Given the description of an element on the screen output the (x, y) to click on. 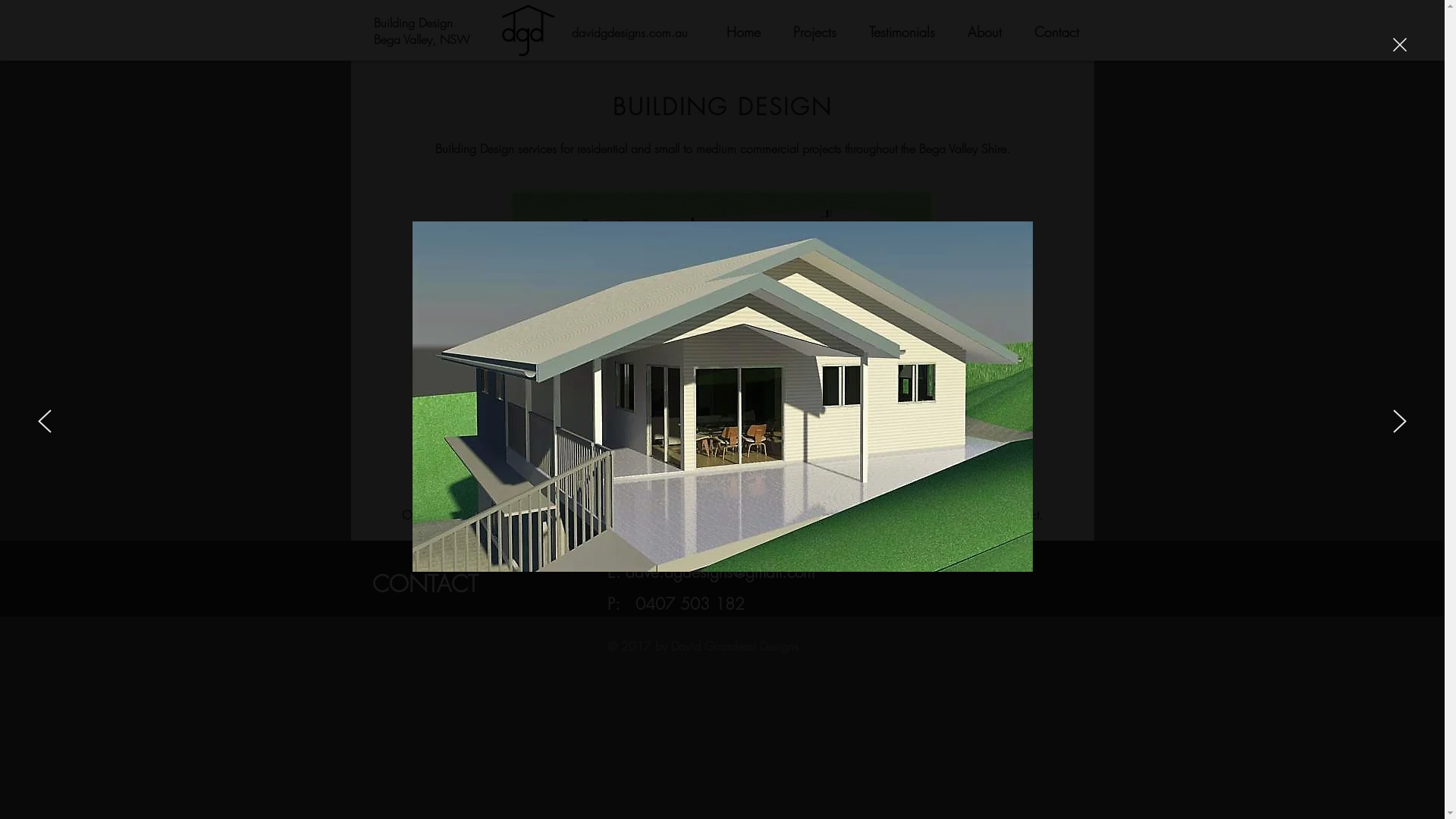
Projects Element type: text (814, 31)
dave.dgdesigns@gmail.com Element type: text (718, 571)
Home Element type: text (742, 31)
About Element type: text (983, 31)
Contact Element type: text (1056, 31)
Testimonials Element type: text (901, 31)
